Given the description of an element on the screen output the (x, y) to click on. 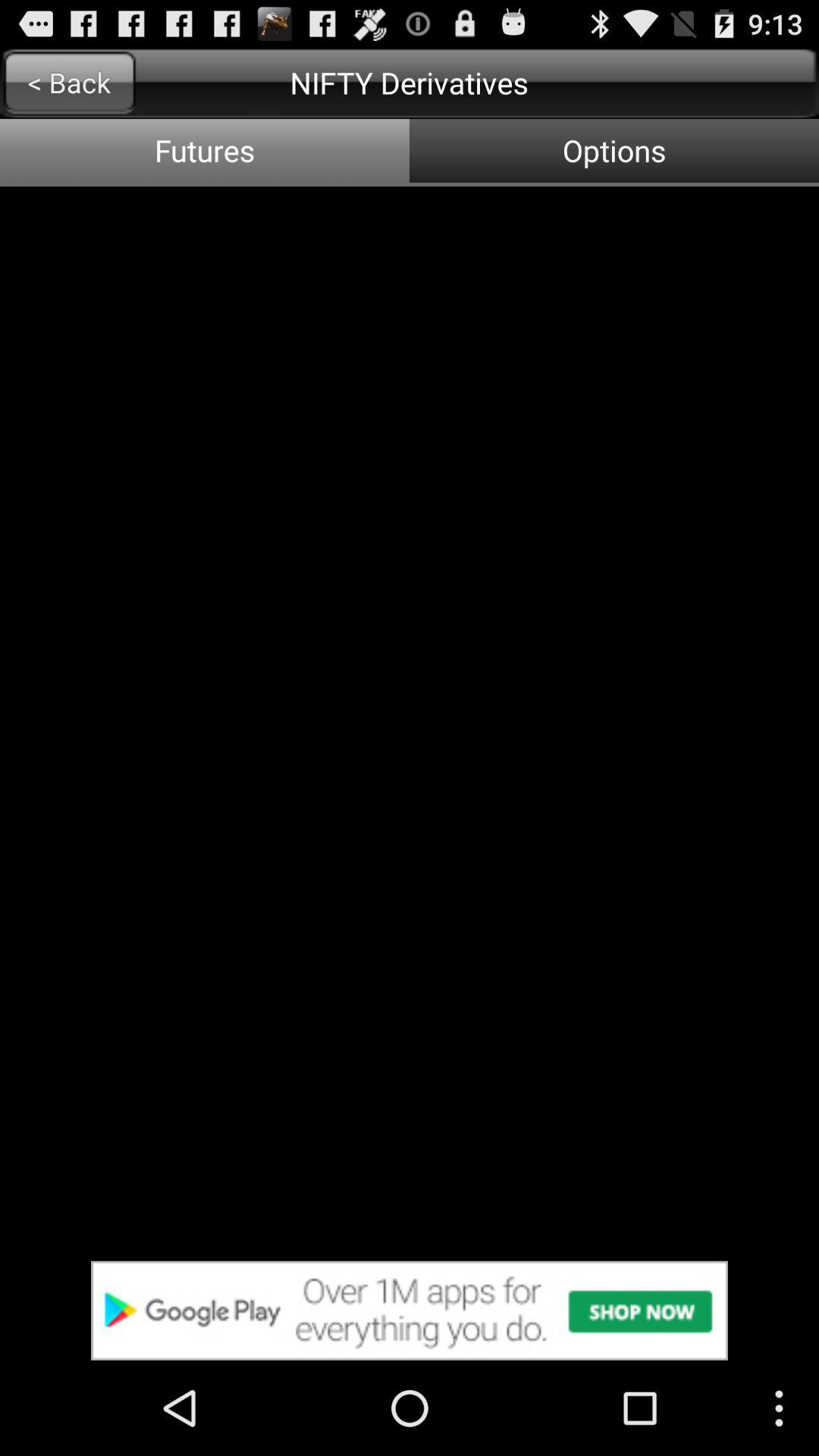
advertisement link (409, 1310)
